Given the description of an element on the screen output the (x, y) to click on. 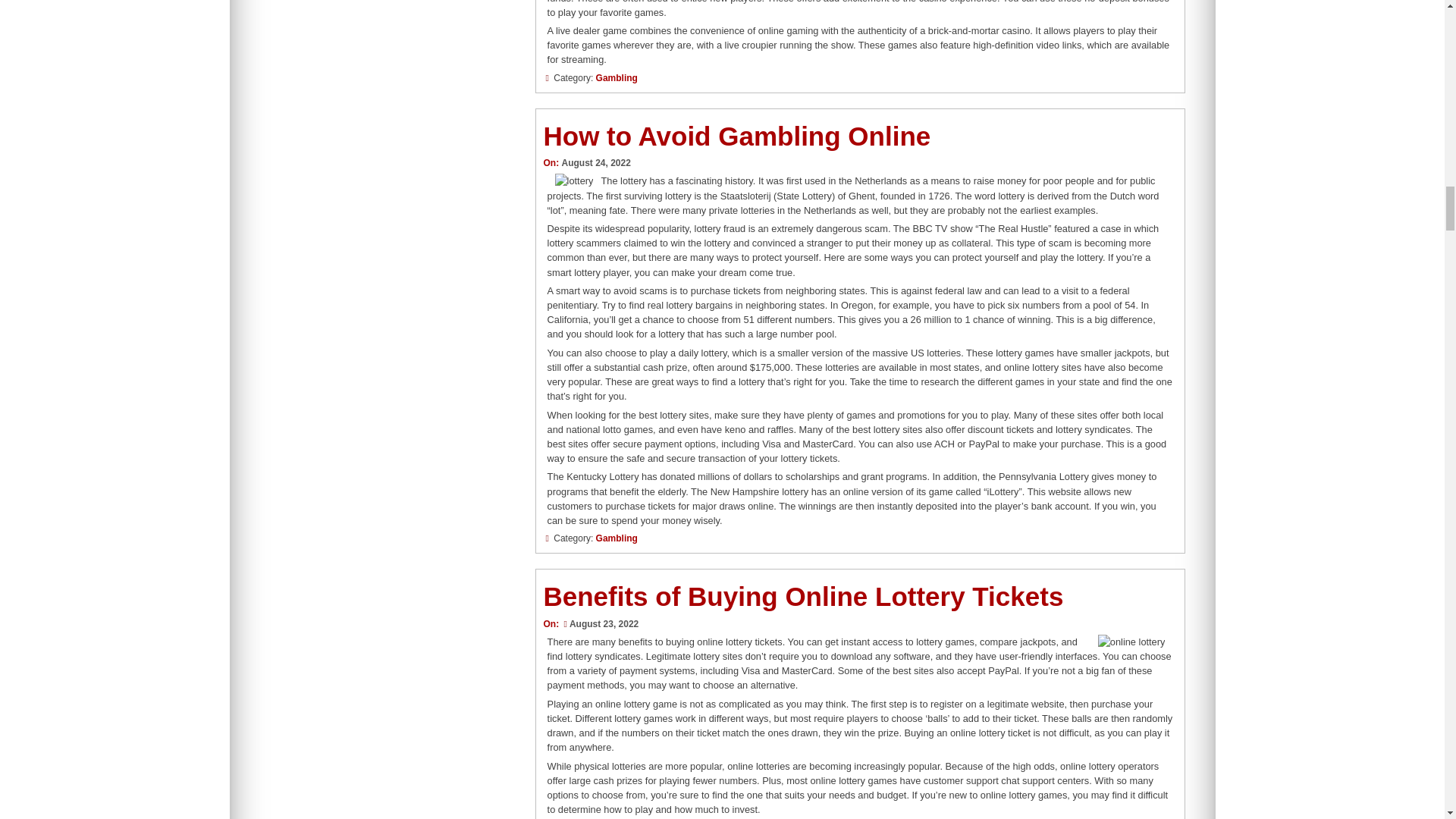
Gambling (616, 538)
August 24, 2022 (595, 163)
Benefits of Buying Online Lottery Tickets (802, 595)
August 23, 2022 (599, 624)
Gambling (616, 77)
How to Avoid Gambling Online (736, 135)
